Given the description of an element on the screen output the (x, y) to click on. 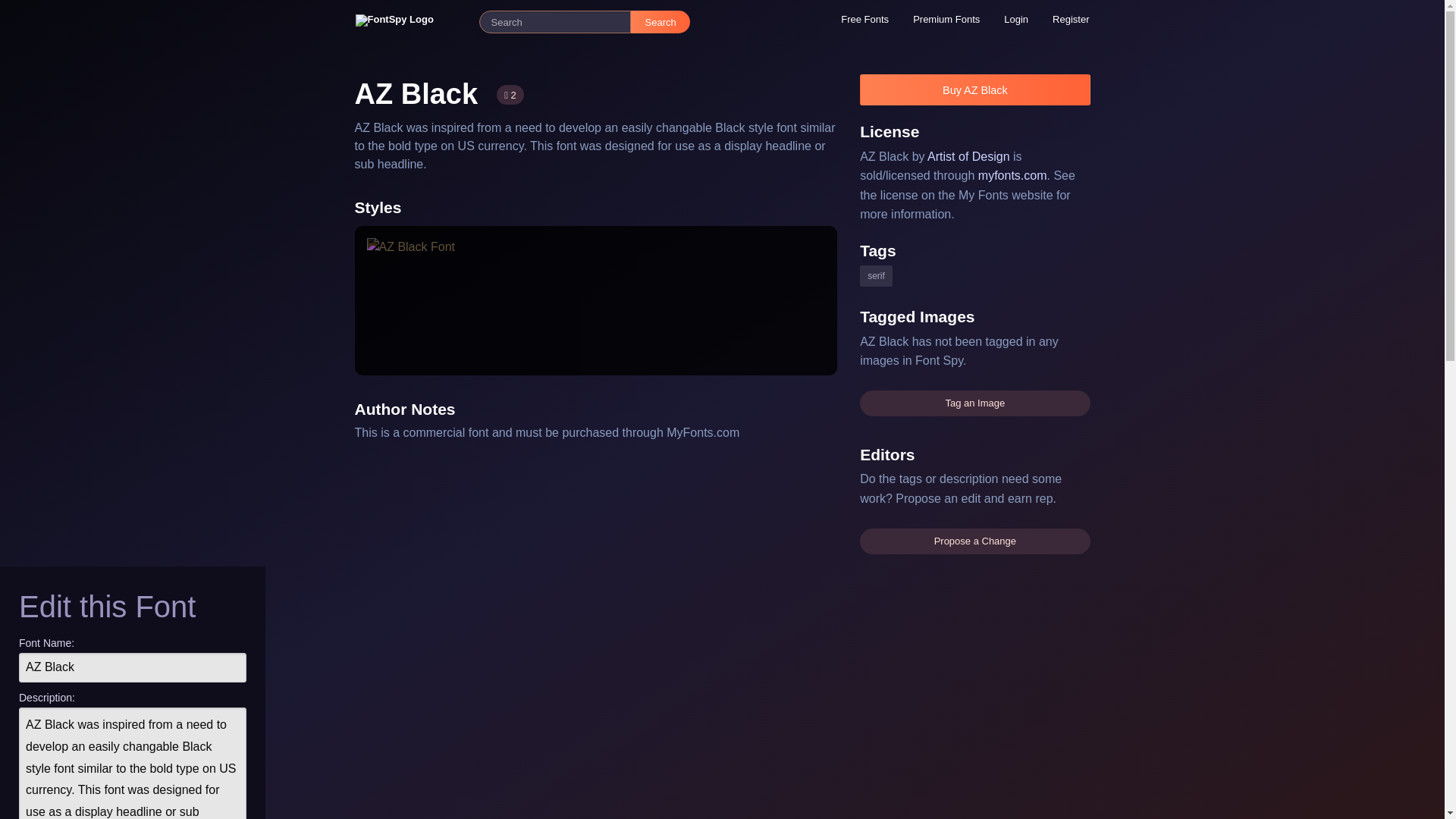
Buy AZ Black (974, 89)
Search (660, 21)
Fonts tagged serif (876, 276)
Propose a Change (974, 541)
Font Fpy Free Font Search Engine (410, 21)
Login (1016, 18)
Register (1070, 18)
Free Fonts (864, 18)
Likes (510, 94)
myfonts.com (1012, 174)
